Given the description of an element on the screen output the (x, y) to click on. 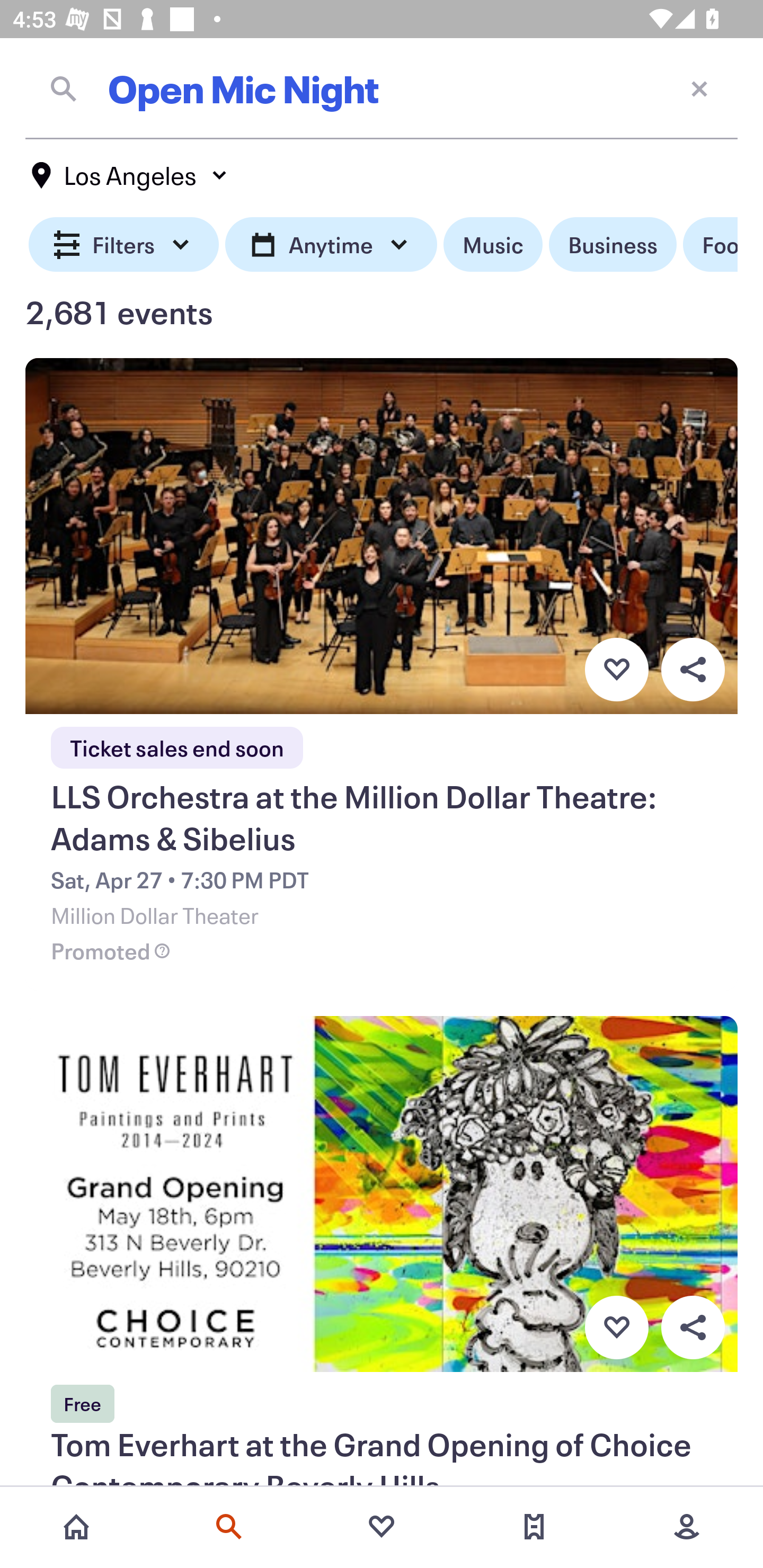
Open Mic Night Close current screen (381, 88)
Close current screen (699, 88)
Los Angeles (130, 175)
Filters (123, 244)
Anytime (331, 244)
Music (492, 244)
Business (612, 244)
Favorite button (616, 669)
Overflow menu button (692, 669)
Favorite button (616, 1326)
Overflow menu button (692, 1326)
Home (76, 1526)
Search events (228, 1526)
Favorites (381, 1526)
Tickets (533, 1526)
More (686, 1526)
